Given the description of an element on the screen output the (x, y) to click on. 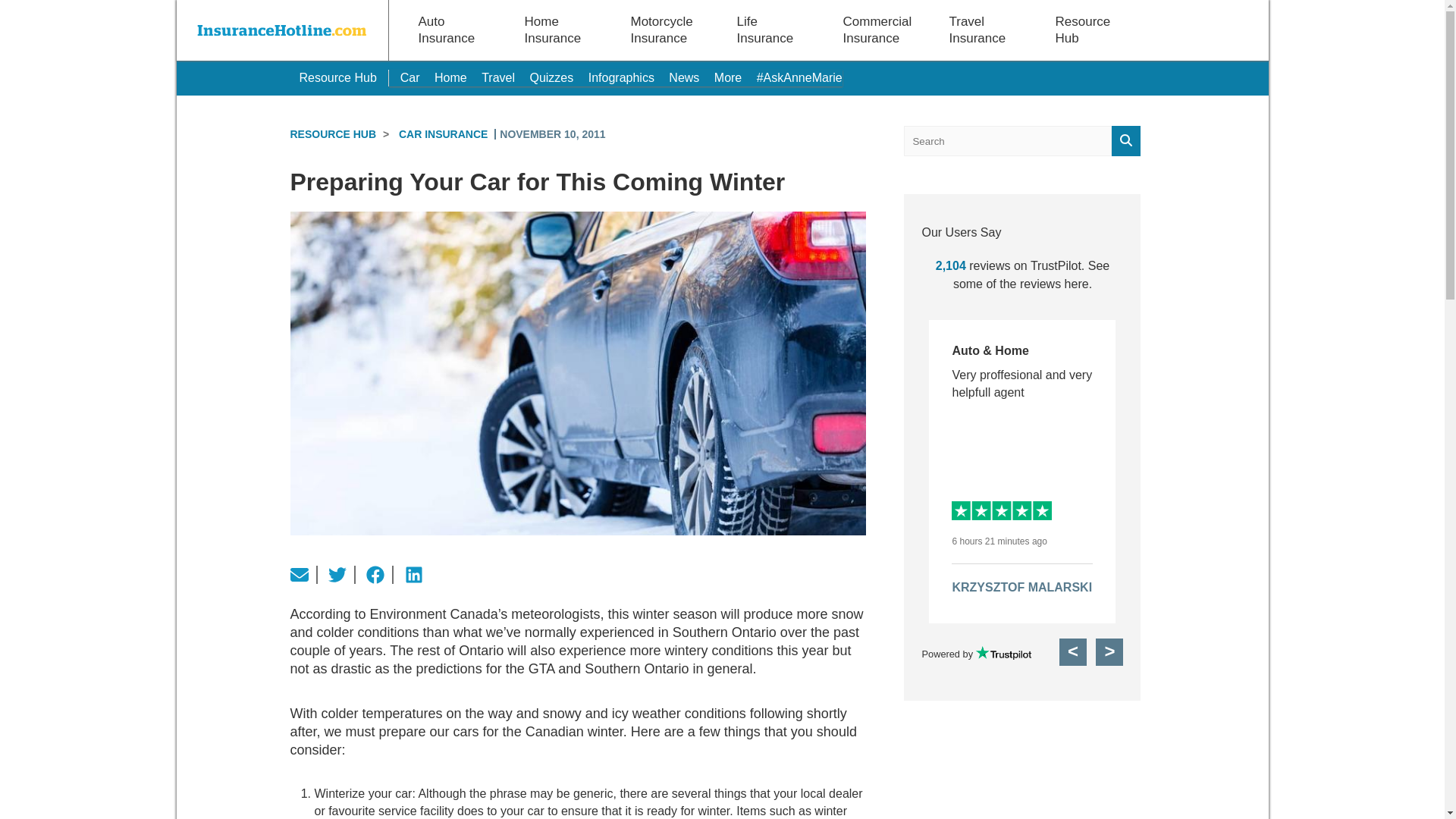
RESOURCE HUB (332, 133)
Quizzes (551, 77)
Commercial Insurance (877, 30)
Infographics (620, 77)
Travel Insurance (979, 30)
Home Insurance (555, 30)
Travel (498, 77)
Motorcycle Insurance (661, 30)
Home Insurance (555, 30)
Home (450, 77)
Car (410, 77)
Travel Insurance (979, 30)
Life Insurance (767, 30)
Auto Insurance (449, 30)
